Given the description of an element on the screen output the (x, y) to click on. 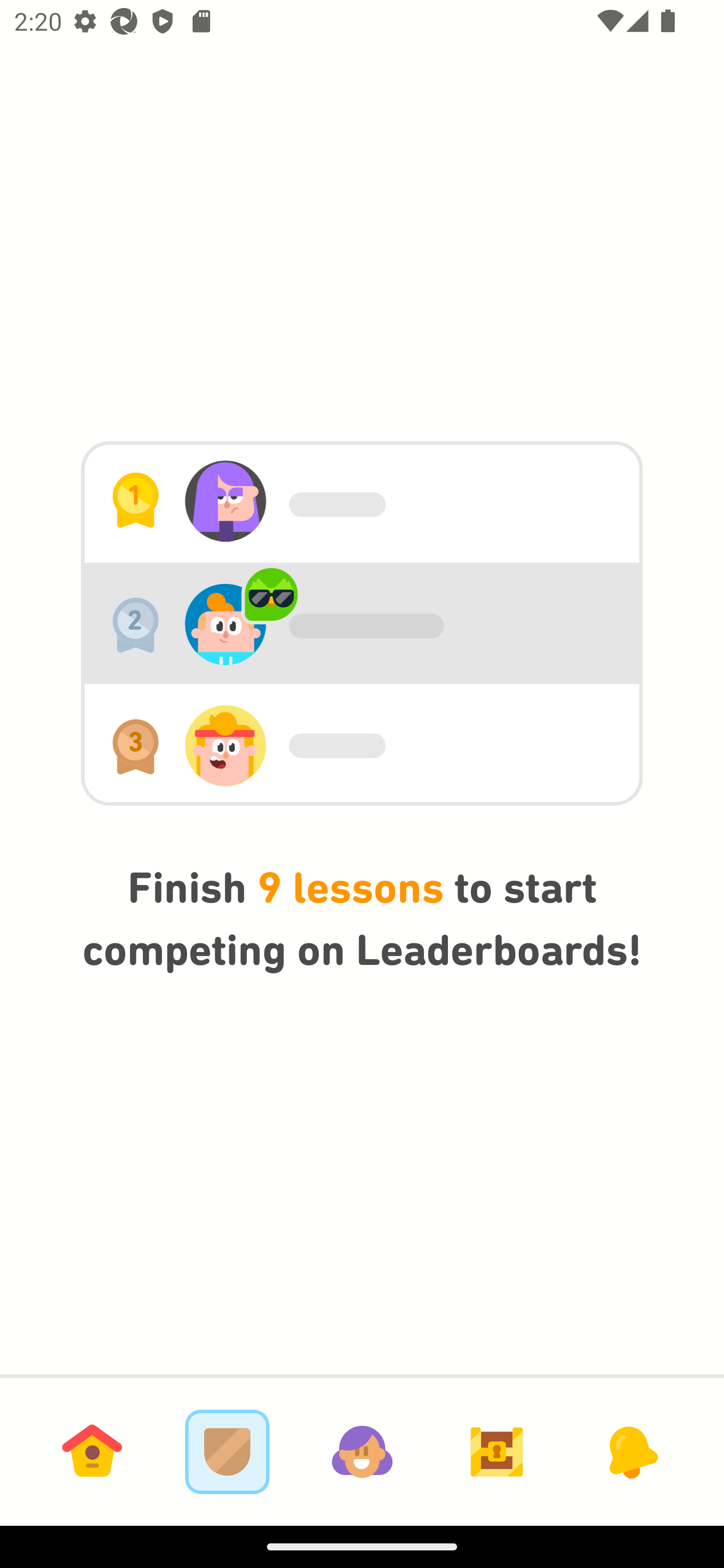
Learn Tab (91, 1451)
Leagues Tab (227, 1451)
Profile Tab (361, 1451)
Goals Tab (496, 1451)
News Tab (631, 1451)
